Given the description of an element on the screen output the (x, y) to click on. 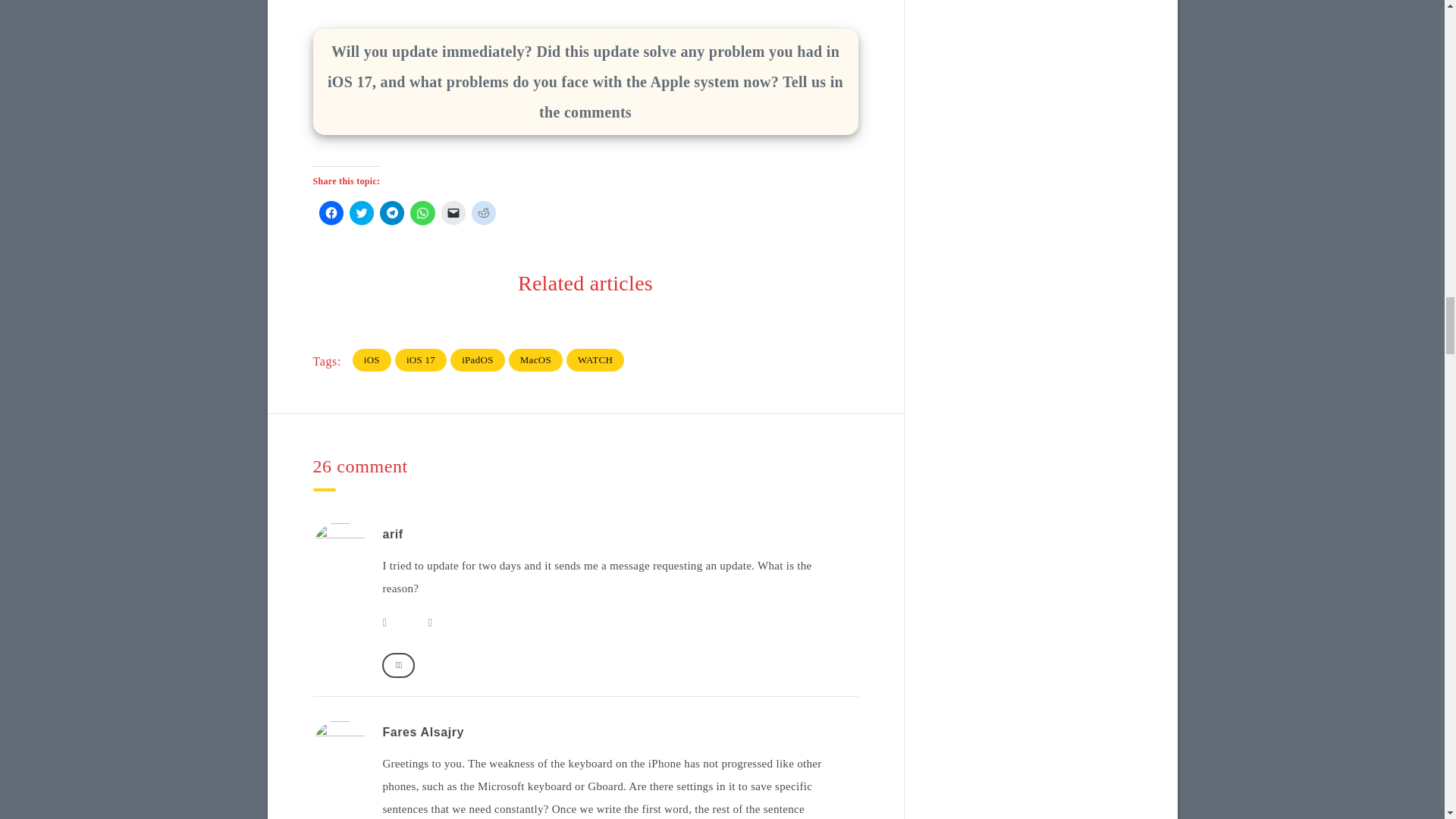
Click to share on Facebook (330, 212)
Click to share on Telegram (392, 212)
Click to share on WhatsApp (421, 212)
Clicking to email a link to a friend (453, 212)
iOS (371, 359)
MacOS (535, 359)
WATCH (595, 359)
iOS 17 (420, 359)
Click to share on Twitter (361, 212)
iPadOS (477, 359)
